Given the description of an element on the screen output the (x, y) to click on. 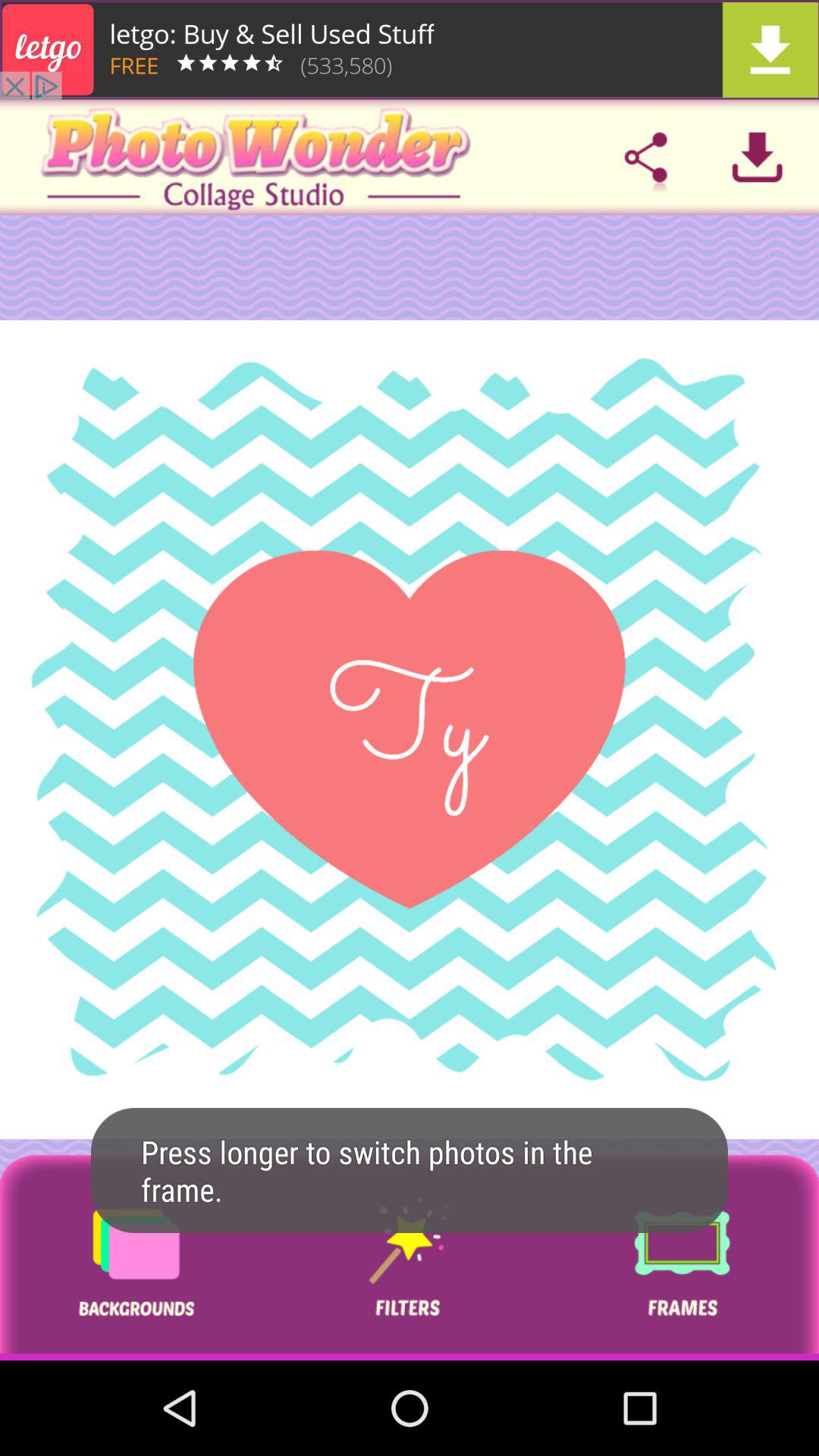
select background patterns (135, 1257)
